Given the description of an element on the screen output the (x, y) to click on. 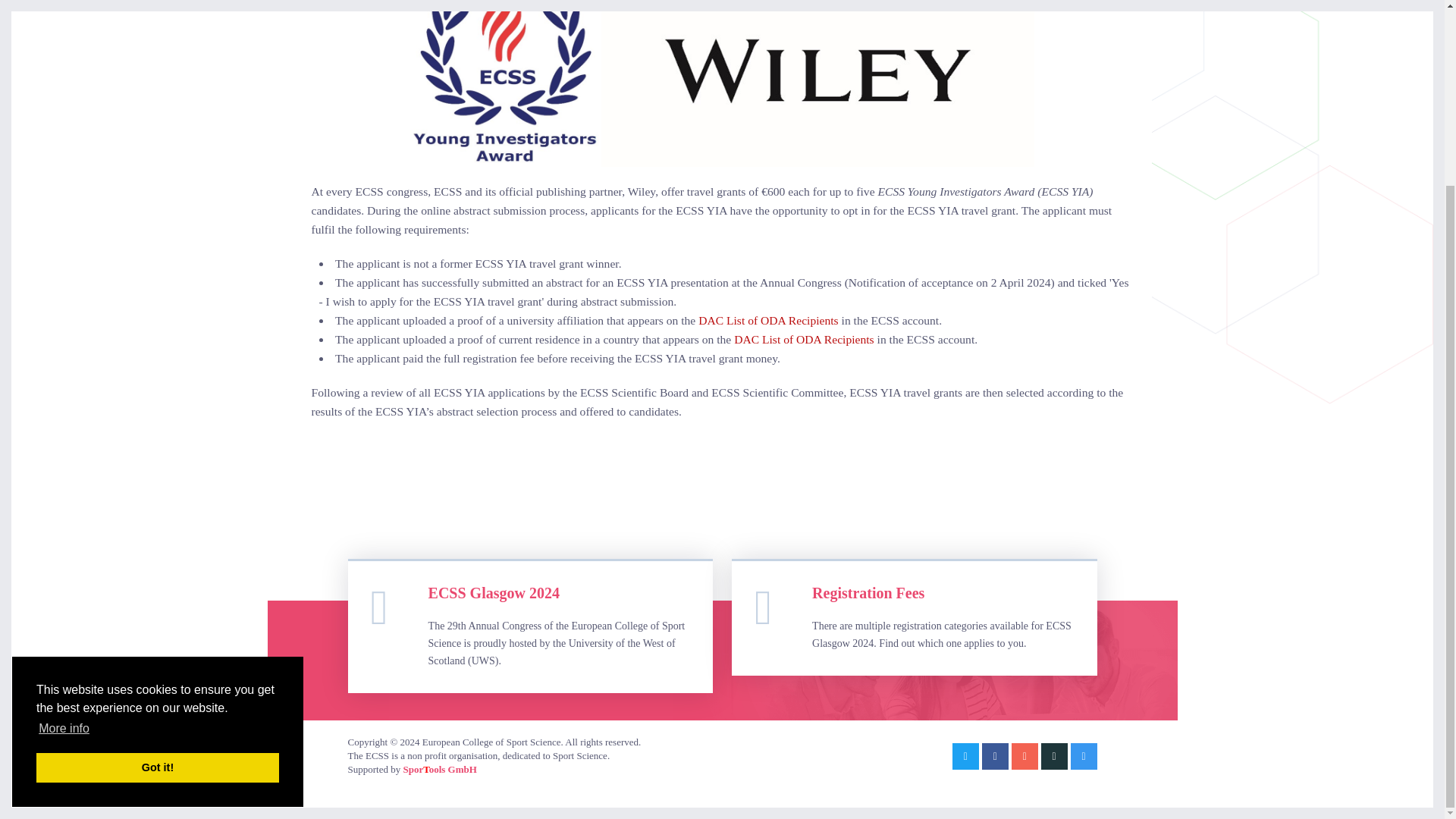
More info (63, 498)
Got it! (157, 537)
SporTools GmbH (439, 768)
